Given the description of an element on the screen output the (x, y) to click on. 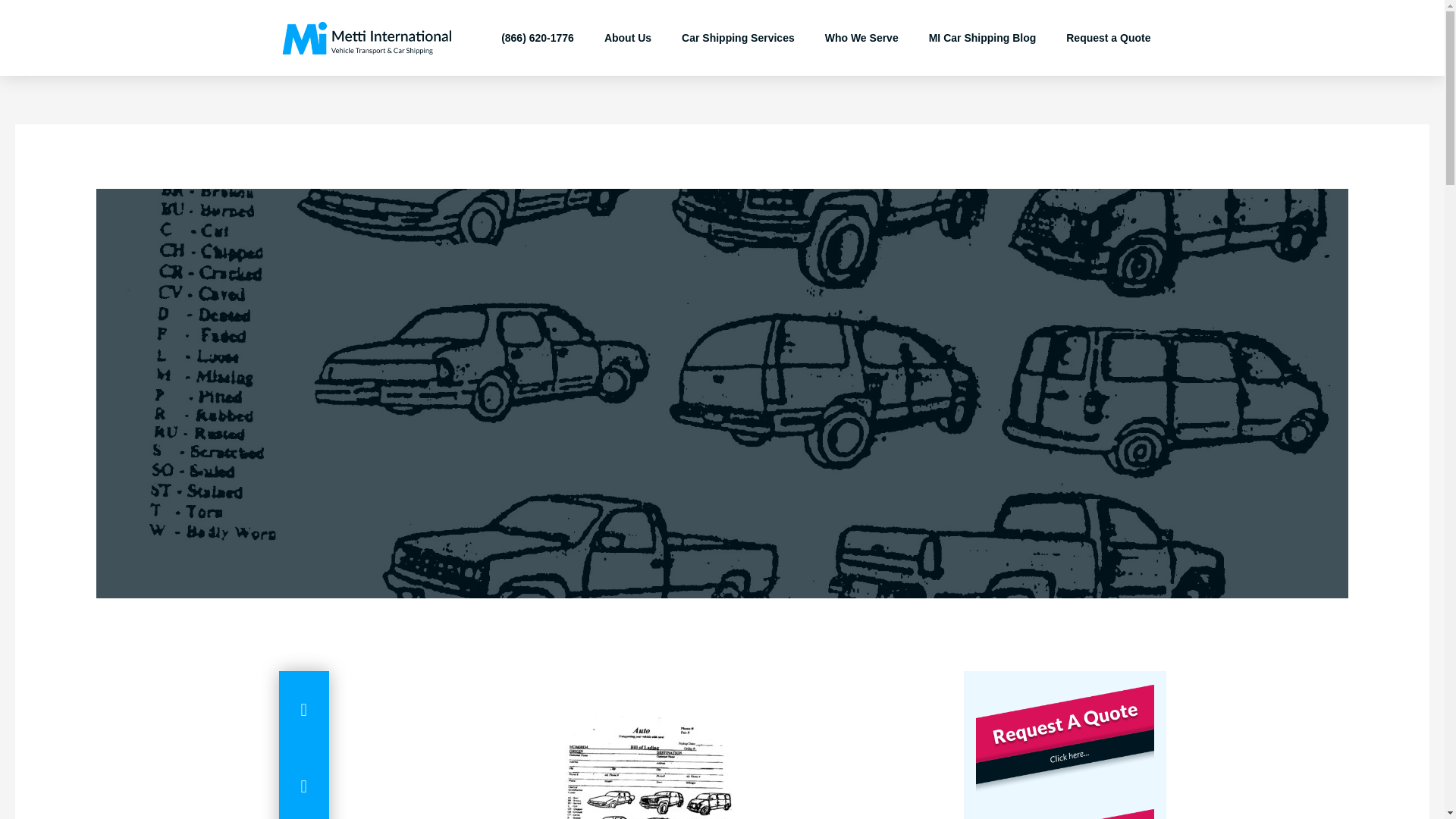
Car Shipping Services (737, 38)
About Us (627, 38)
Who We Serve (861, 38)
MI Car Shipping Blog (982, 38)
